Given the description of an element on the screen output the (x, y) to click on. 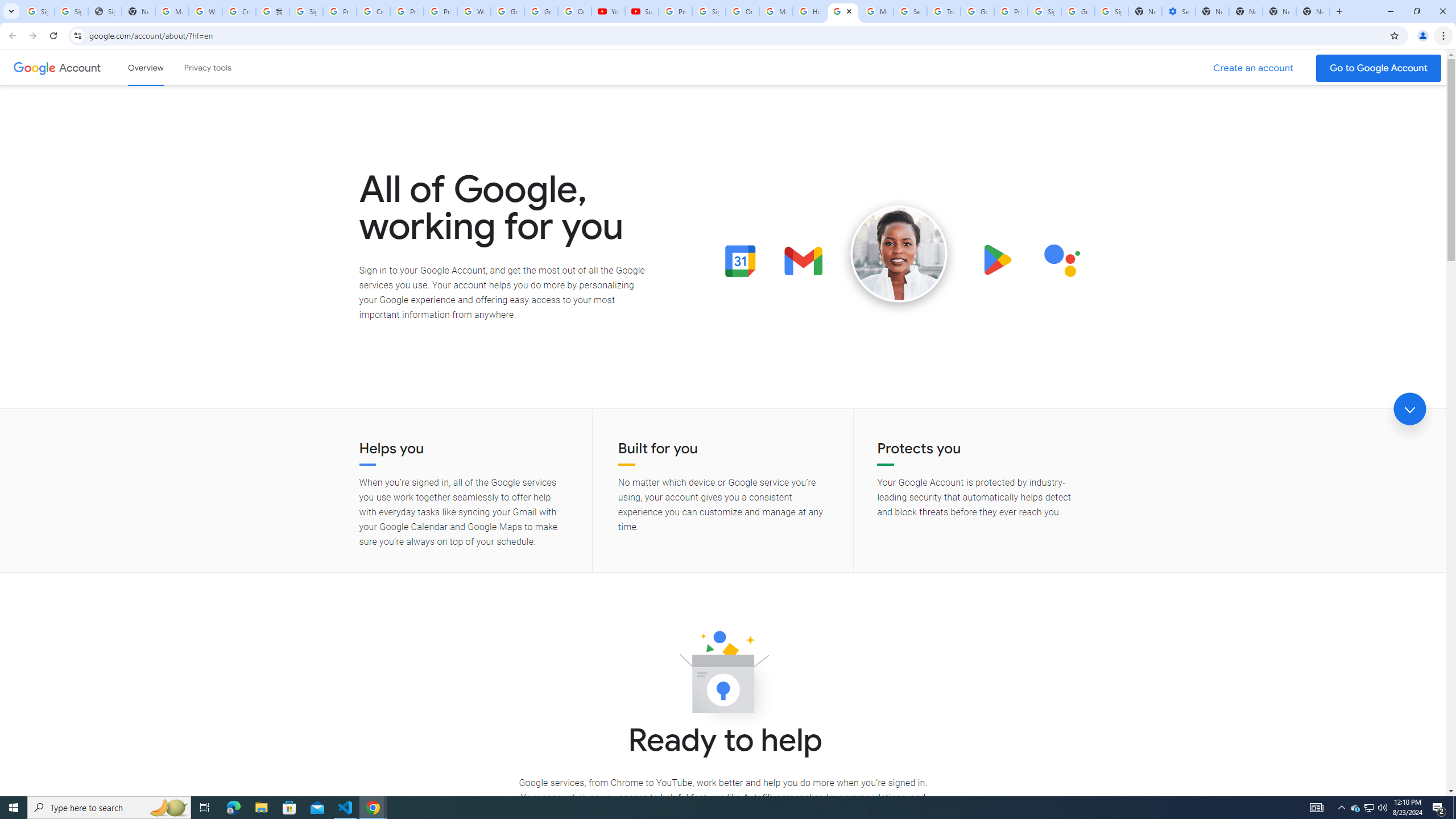
Ready to help (722, 675)
Sign in - Google Accounts (71, 11)
Google Account overview (145, 67)
Settings - Performance (1179, 11)
Who is my administrator? - Google Account Help (205, 11)
Search our Doodle Library Collection - Google Doodles (909, 11)
